Given the description of an element on the screen output the (x, y) to click on. 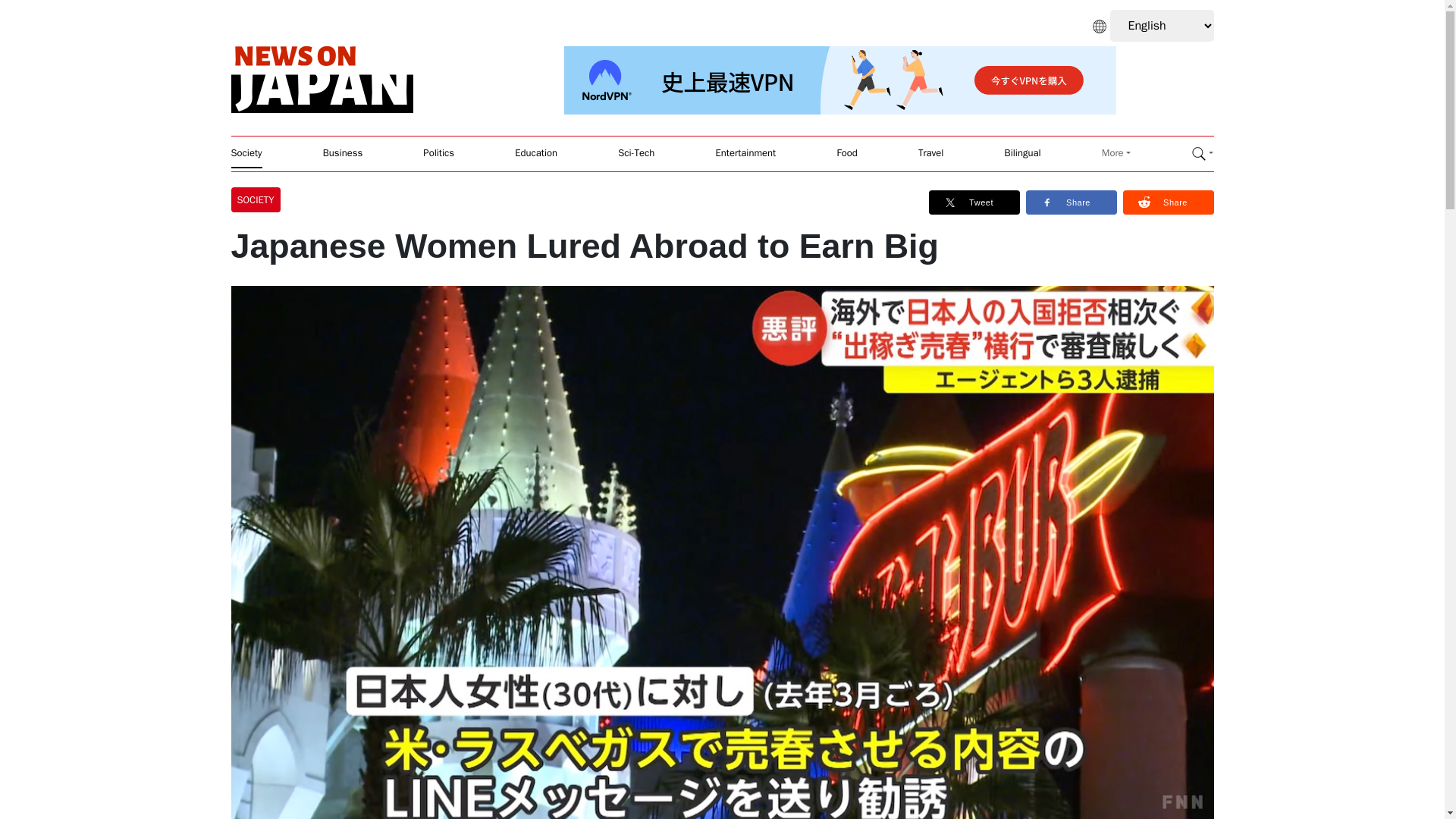
Education (536, 153)
SOCIETY (258, 198)
Bilingual (1022, 153)
Business (342, 153)
Entertainment (746, 153)
Sci-Tech (635, 153)
Politics (438, 153)
Society (246, 153)
Travel (930, 153)
More (1116, 153)
